Given the description of an element on the screen output the (x, y) to click on. 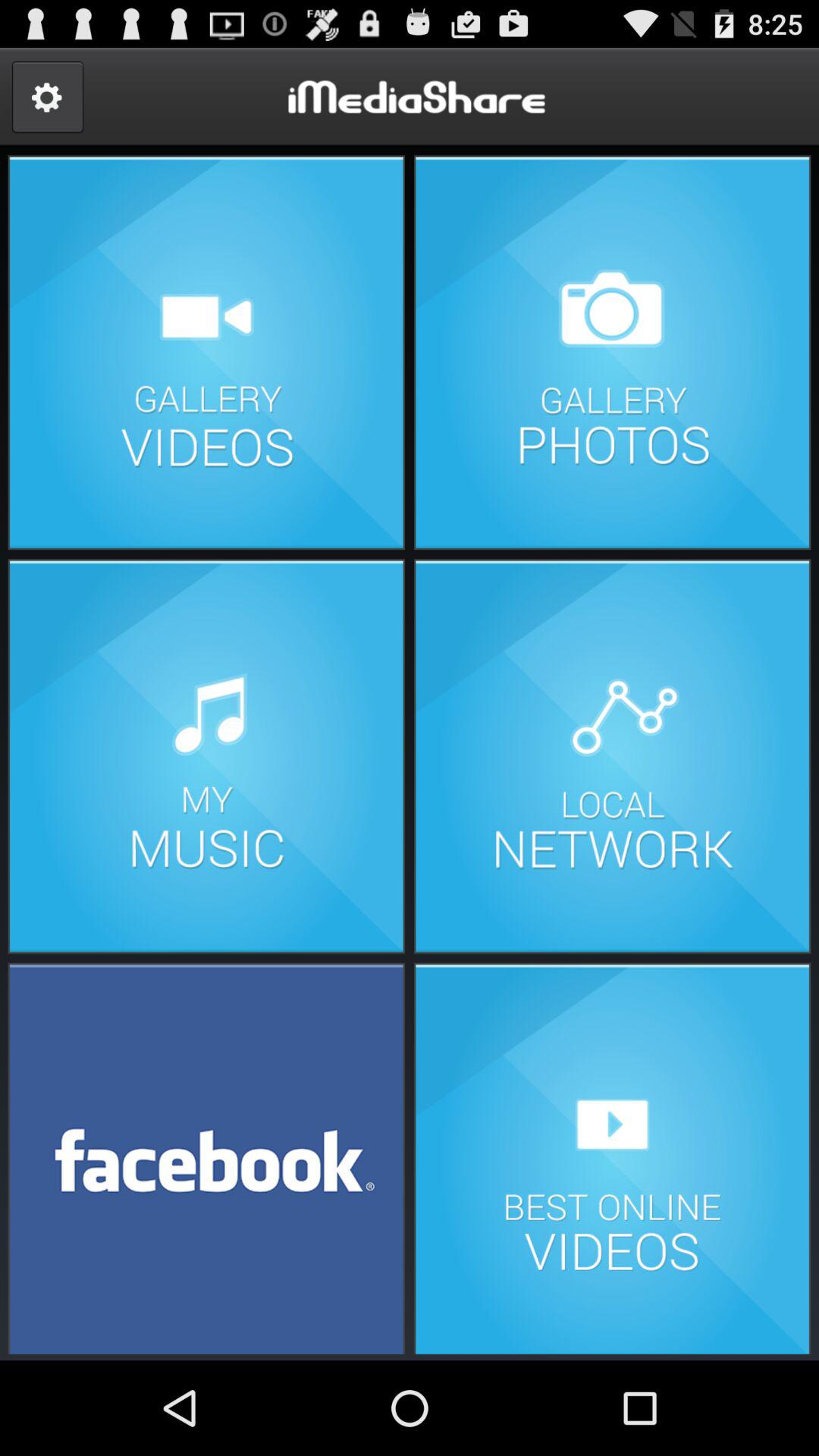
stream videos and pictures from facebook (206, 1157)
